Given the description of an element on the screen output the (x, y) to click on. 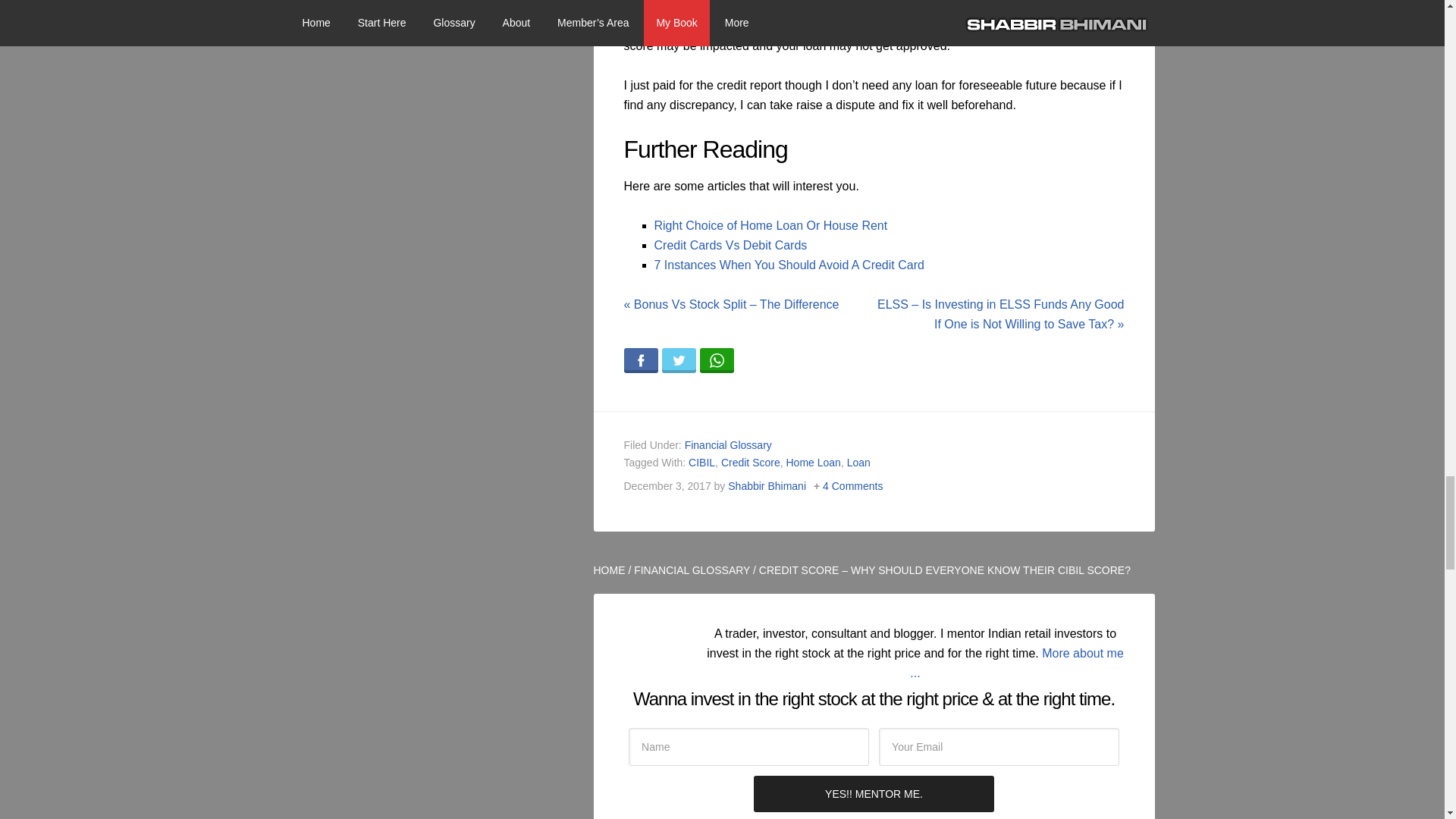
Financial Glossary (727, 444)
Your Email (999, 746)
Name (748, 746)
Credit Score (750, 462)
Right Choice of Home Loan Or House Rent (769, 225)
7 Instances When You Should Avoid A Credit Card (788, 264)
Loan (858, 462)
Credit Cards Vs Debit Cards (729, 245)
CIBIL (701, 462)
Yes!! Mentor Me. (874, 793)
